Given the description of an element on the screen output the (x, y) to click on. 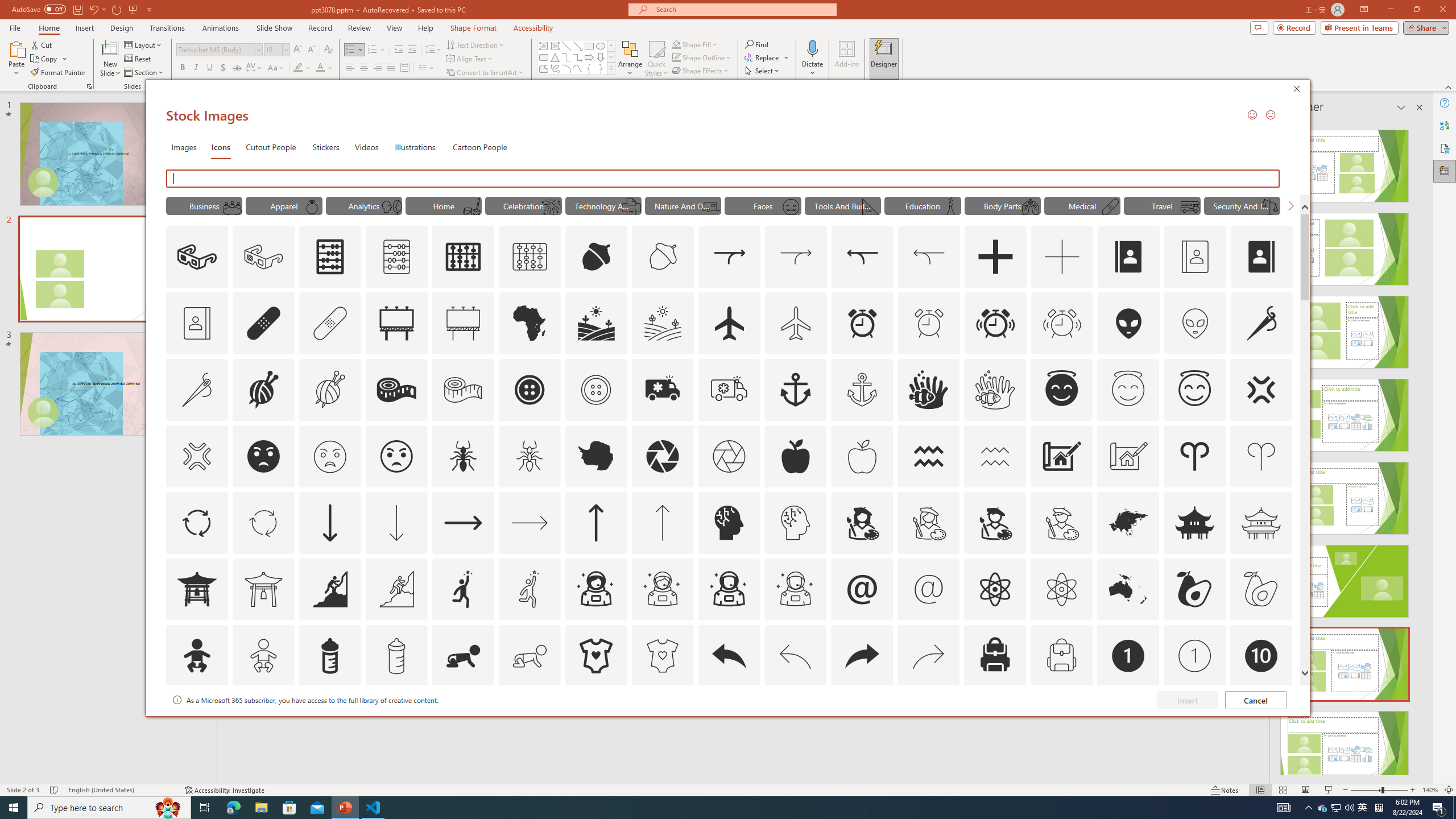
AutomationID: Icons_Agriculture (596, 323)
AutomationID: Icons_Badge1 (1128, 655)
Shape Format (473, 28)
Align Left (349, 67)
AutomationID: Icons_ArrowCircle_M (263, 522)
Arrow: Down (600, 57)
AutomationID: Icons_AngerSymbol_M (196, 455)
AutomationID: Icons_AstronautFemale (595, 588)
AutomationID: Icons_Badge6_M (861, 721)
AutomationID: Icons_BabyBottle_M (395, 655)
